Given the description of an element on the screen output the (x, y) to click on. 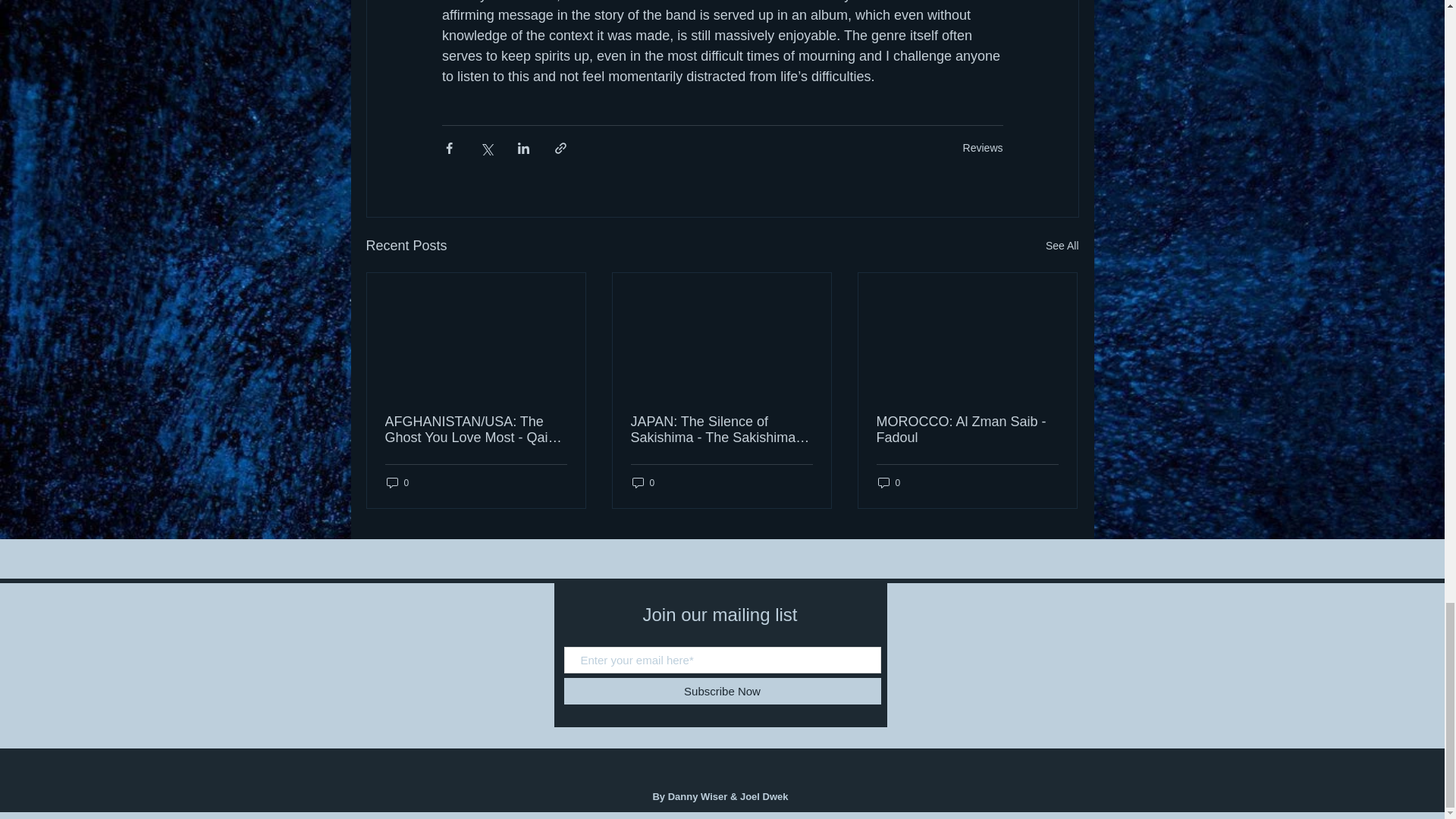
JAPAN: The Silence of Sakishima - The Sakishima Meeting (721, 429)
See All (1061, 246)
0 (397, 482)
0 (643, 482)
Reviews (982, 147)
